Given the description of an element on the screen output the (x, y) to click on. 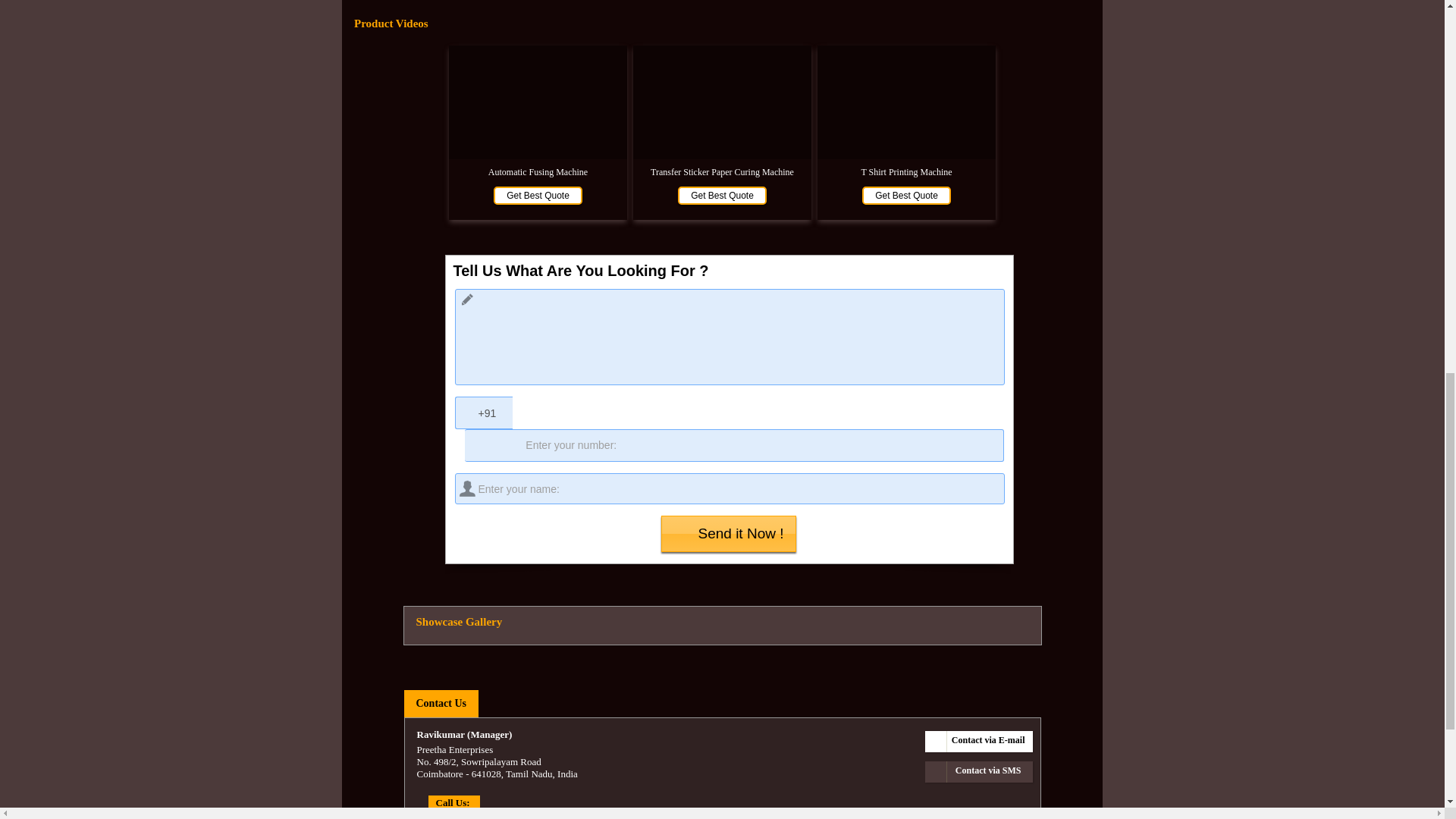
Contact Us (439, 703)
Send it Now ! (728, 533)
Enter your name: (729, 488)
Transfer Sticker Paper Curing Machine (721, 172)
T Shirt Printing Machine (906, 172)
Product Videos (721, 23)
Automatic Fusing Machine (537, 172)
Enter your number: (733, 445)
Send it Now ! (728, 533)
